Given the description of an element on the screen output the (x, y) to click on. 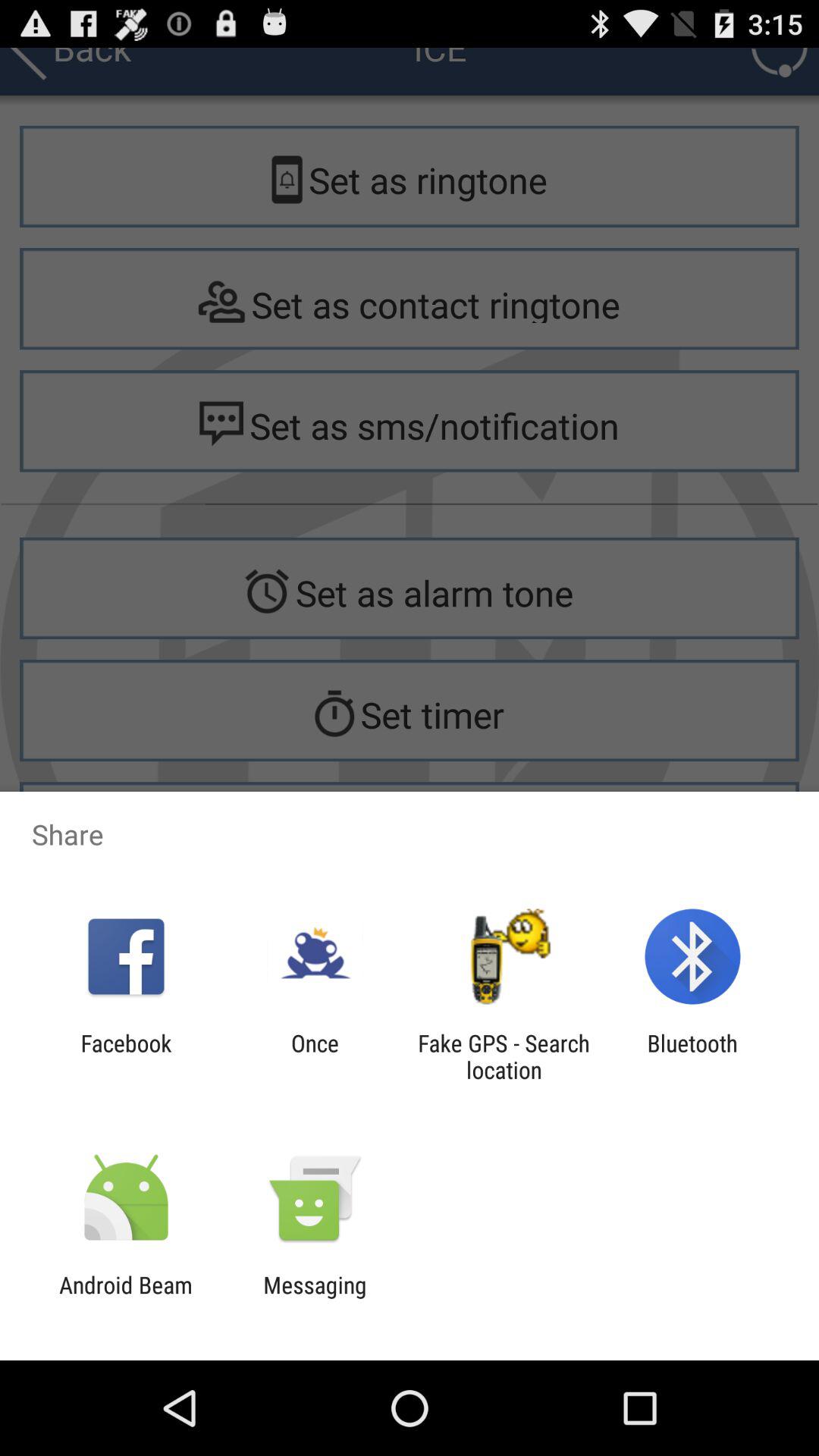
turn on item to the right of once (503, 1056)
